Given the description of an element on the screen output the (x, y) to click on. 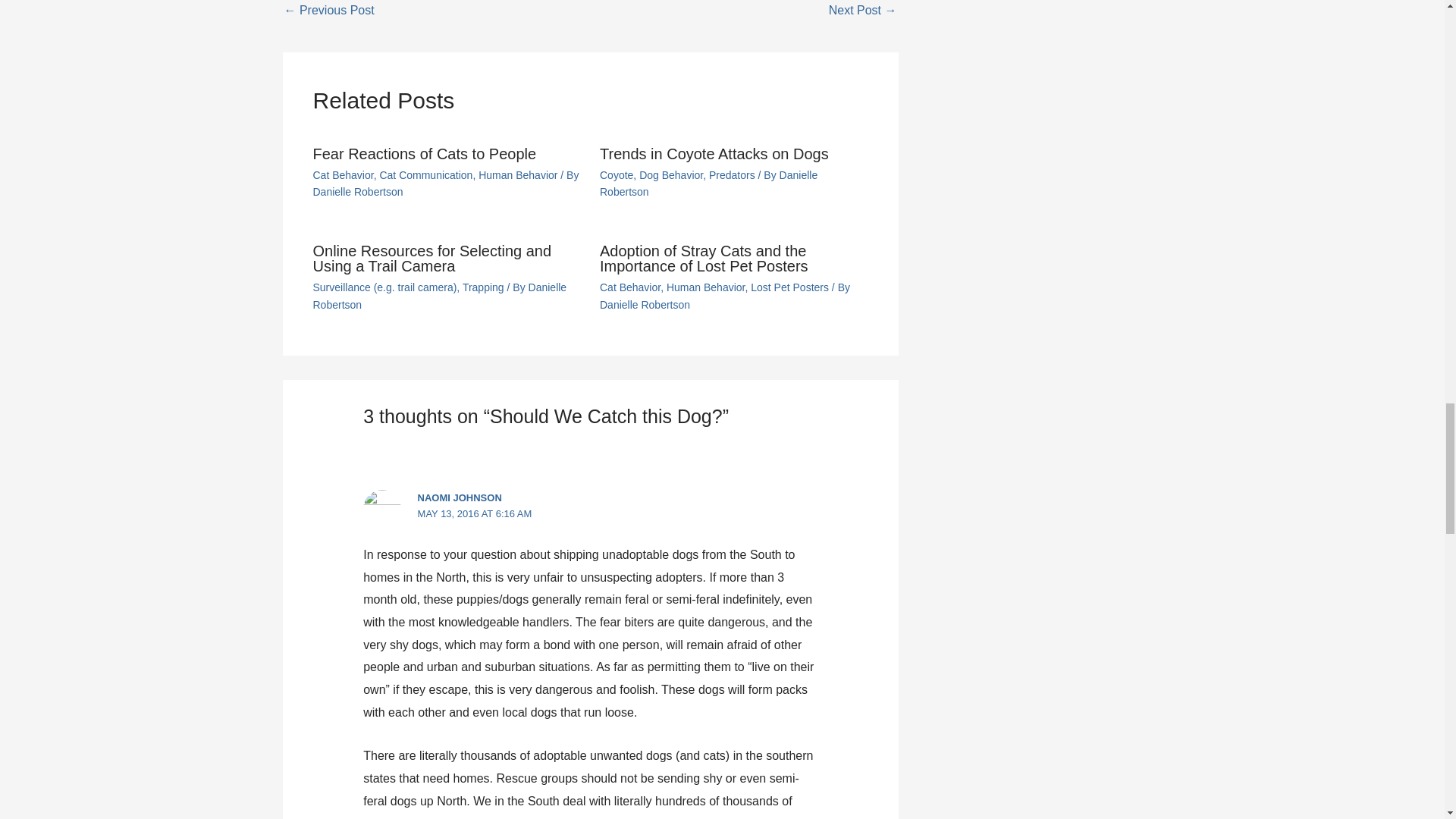
Missing Cat Study (862, 12)
View all posts by Danielle Robertson (358, 191)
View all posts by Danielle Robertson (707, 183)
When NOT to Use a Tracking Dog to Find a Lost Dog (328, 12)
View all posts by Danielle Robertson (439, 295)
View all posts by Danielle Robertson (644, 304)
